Given the description of an element on the screen output the (x, y) to click on. 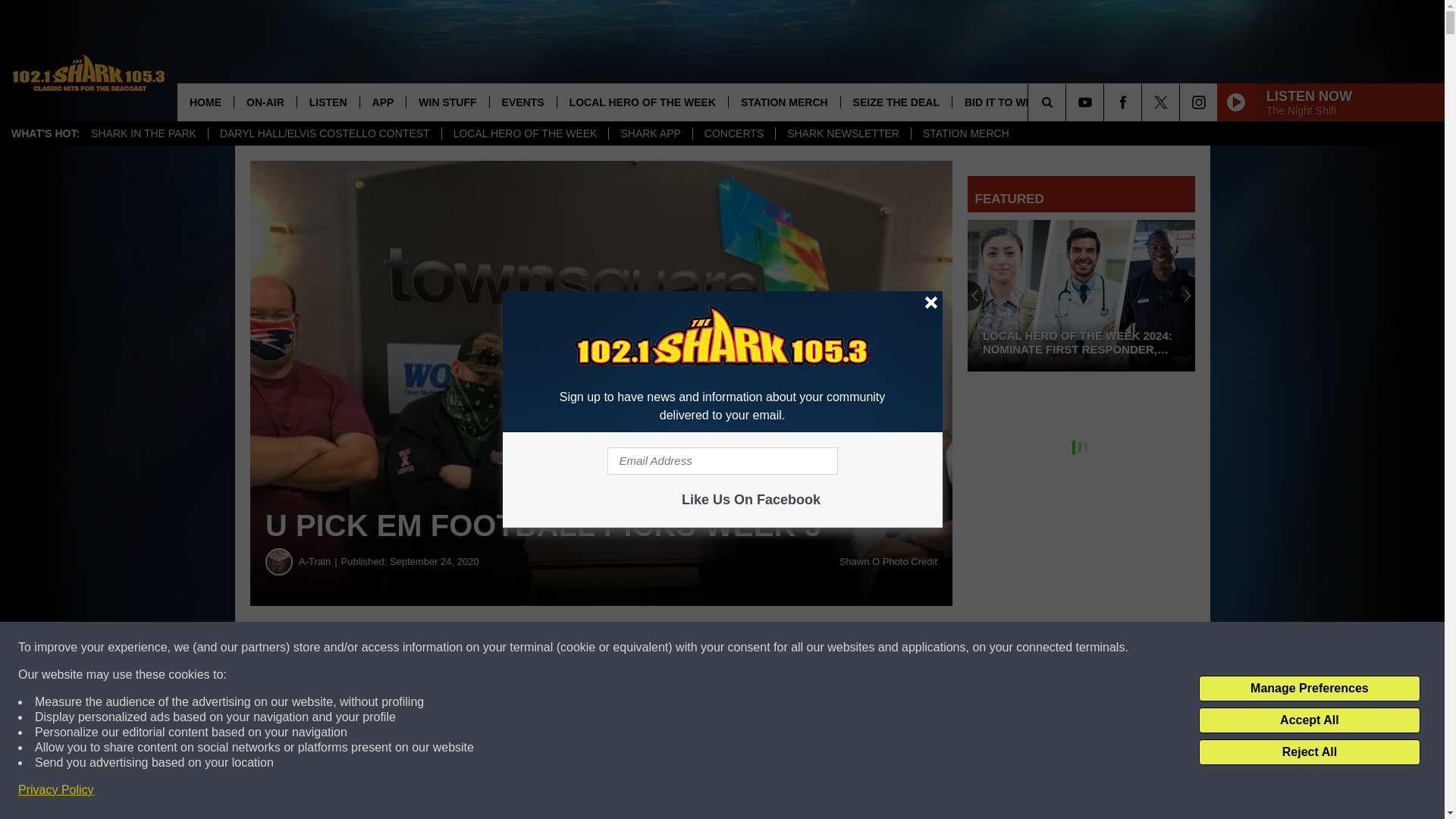
Manage Preferences (1309, 688)
WIN STUFF (446, 102)
EVENTS (522, 102)
SHARK APP (649, 133)
LOCAL HERO OF THE WEEK (642, 102)
LISTEN (328, 102)
Accept All (1309, 720)
LOCAL HERO OF THE WEEK (524, 133)
Share on Facebook (460, 647)
Reject All (1309, 751)
SEARCH (1068, 102)
SHARK NEWSLETTER (842, 133)
HOME (204, 102)
STATION MERCH (965, 133)
ON-AIR (264, 102)
